Given the description of an element on the screen output the (x, y) to click on. 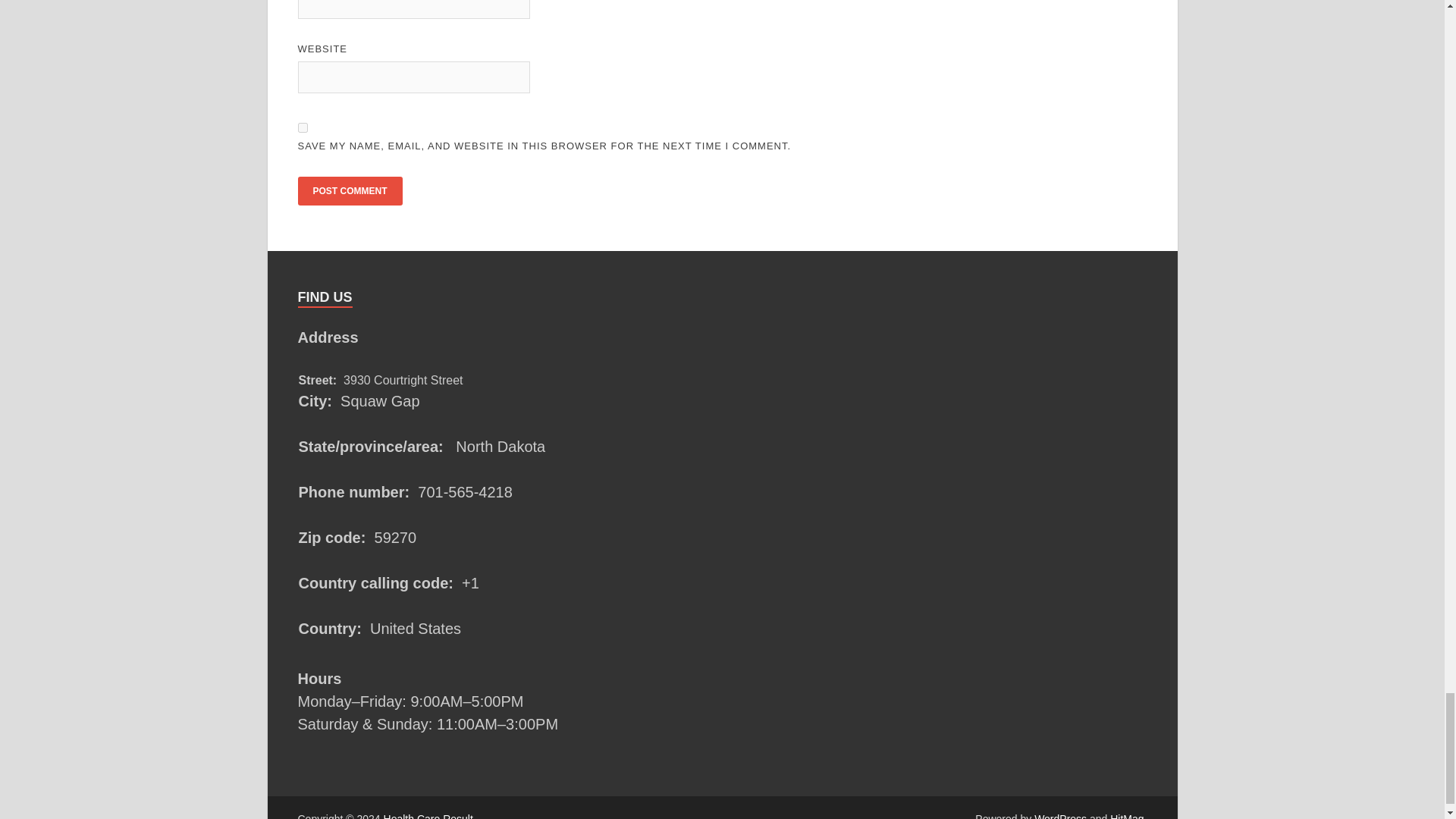
yes (302, 127)
Post Comment (349, 190)
